Given the description of an element on the screen output the (x, y) to click on. 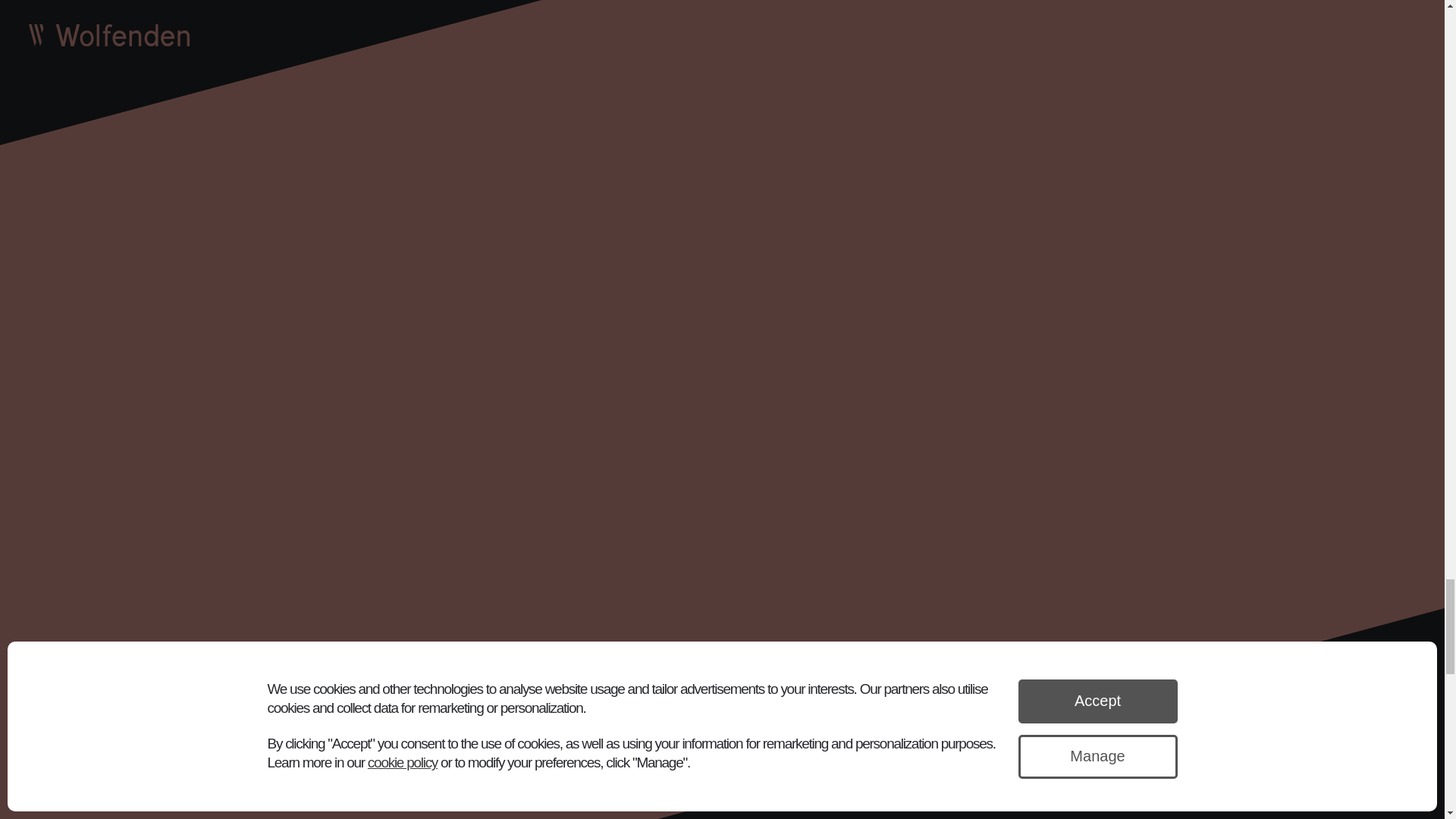
Sign Up (590, 622)
